Given the description of an element on the screen output the (x, y) to click on. 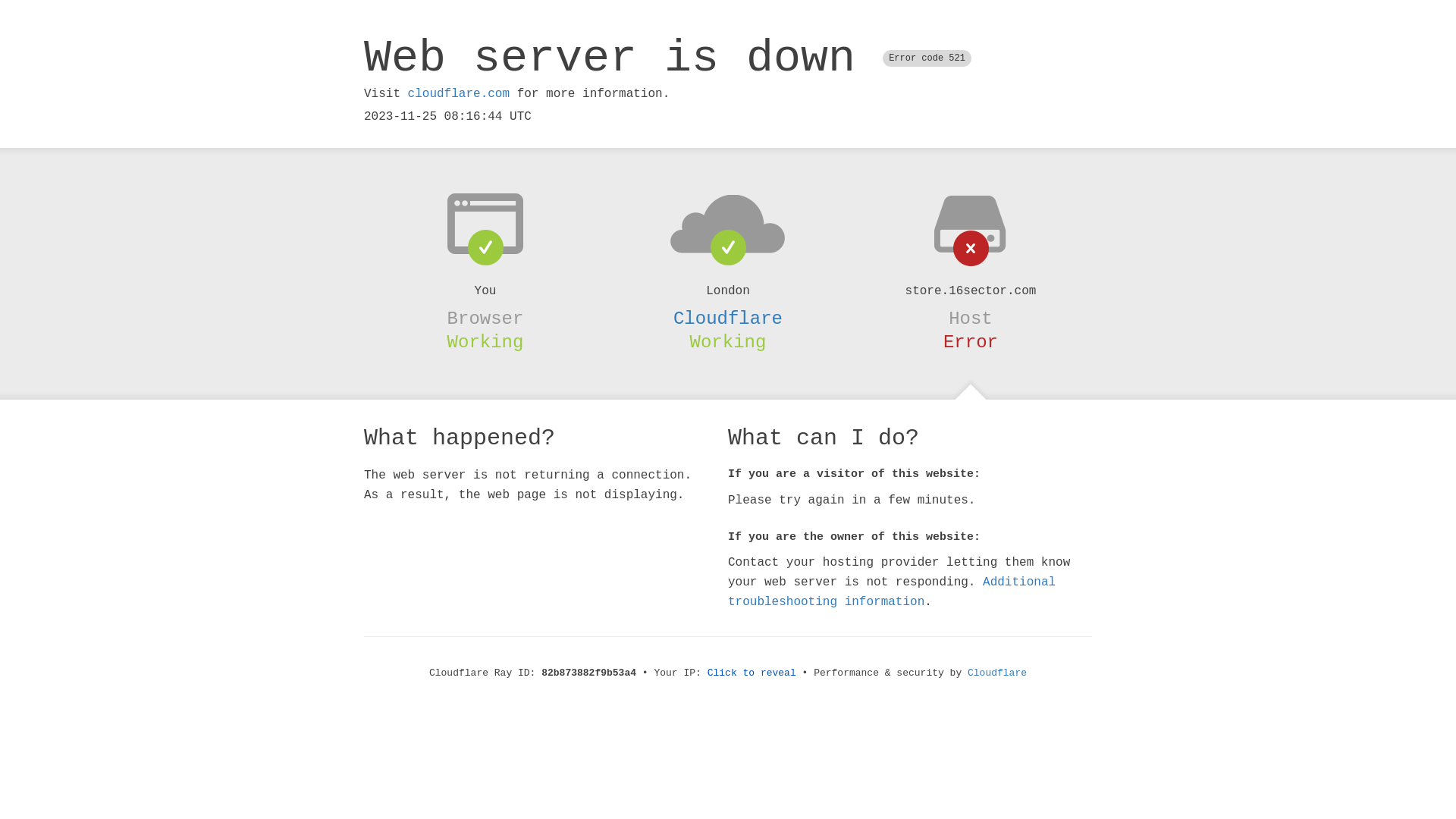
Click to reveal Element type: text (751, 672)
Additional troubleshooting information Element type: text (891, 591)
Cloudflare Element type: text (996, 672)
cloudflare.com Element type: text (458, 93)
Cloudflare Element type: text (727, 318)
